Given the description of an element on the screen output the (x, y) to click on. 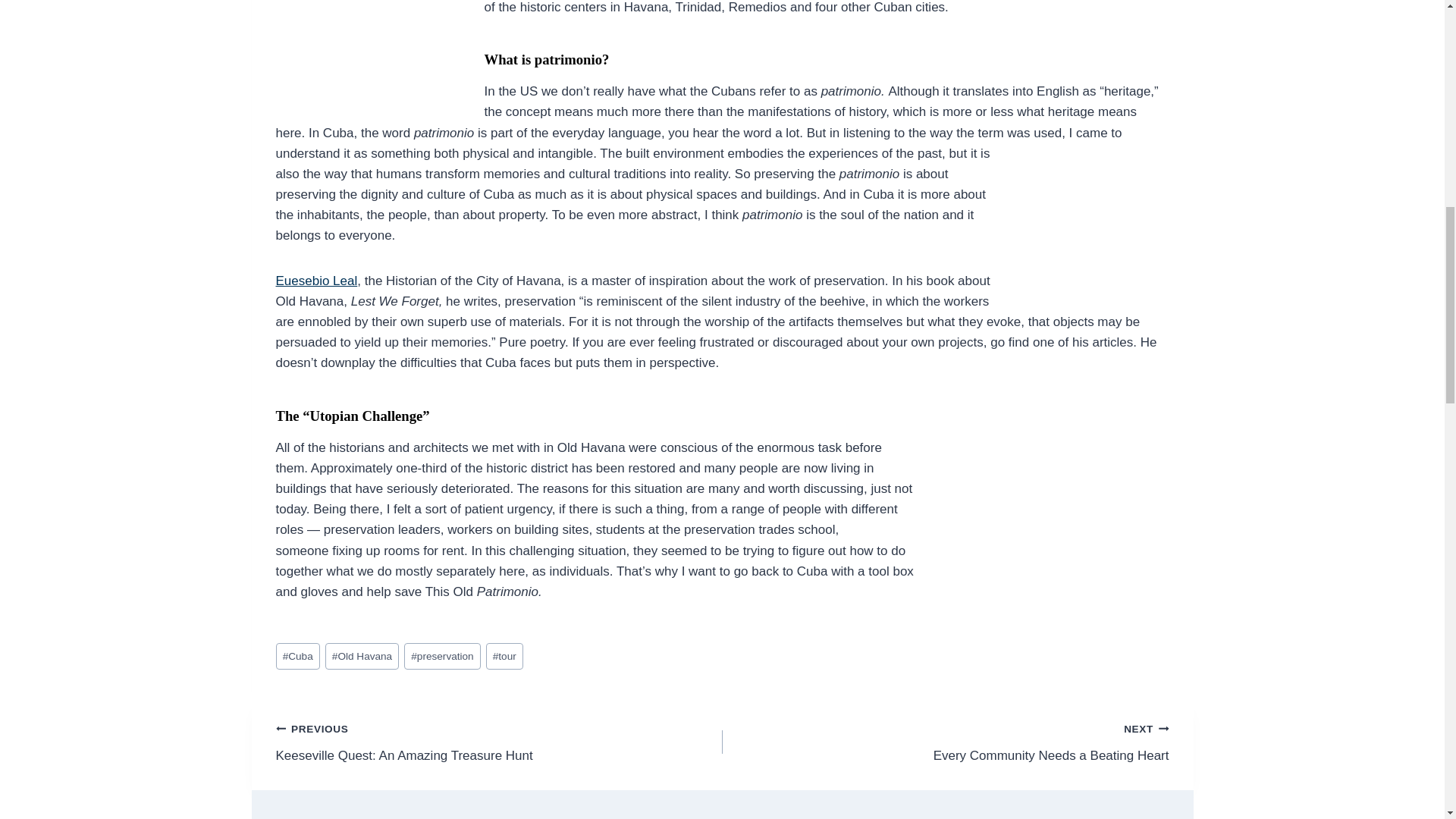
tour (504, 655)
preservation (442, 655)
Cuba (298, 655)
Old Havana (361, 655)
